Given the description of an element on the screen output the (x, y) to click on. 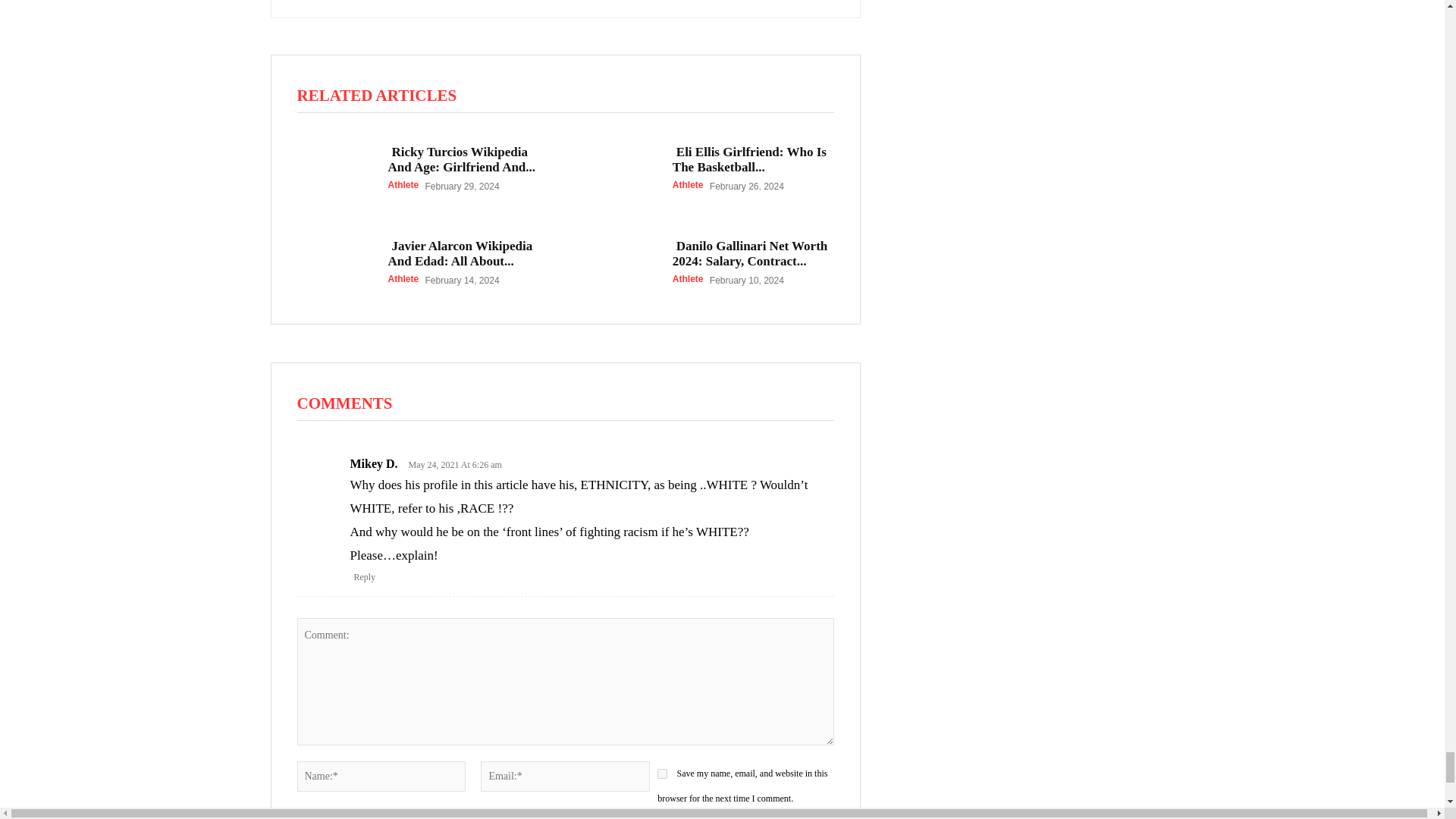
yes (662, 773)
